Given the description of an element on the screen output the (x, y) to click on. 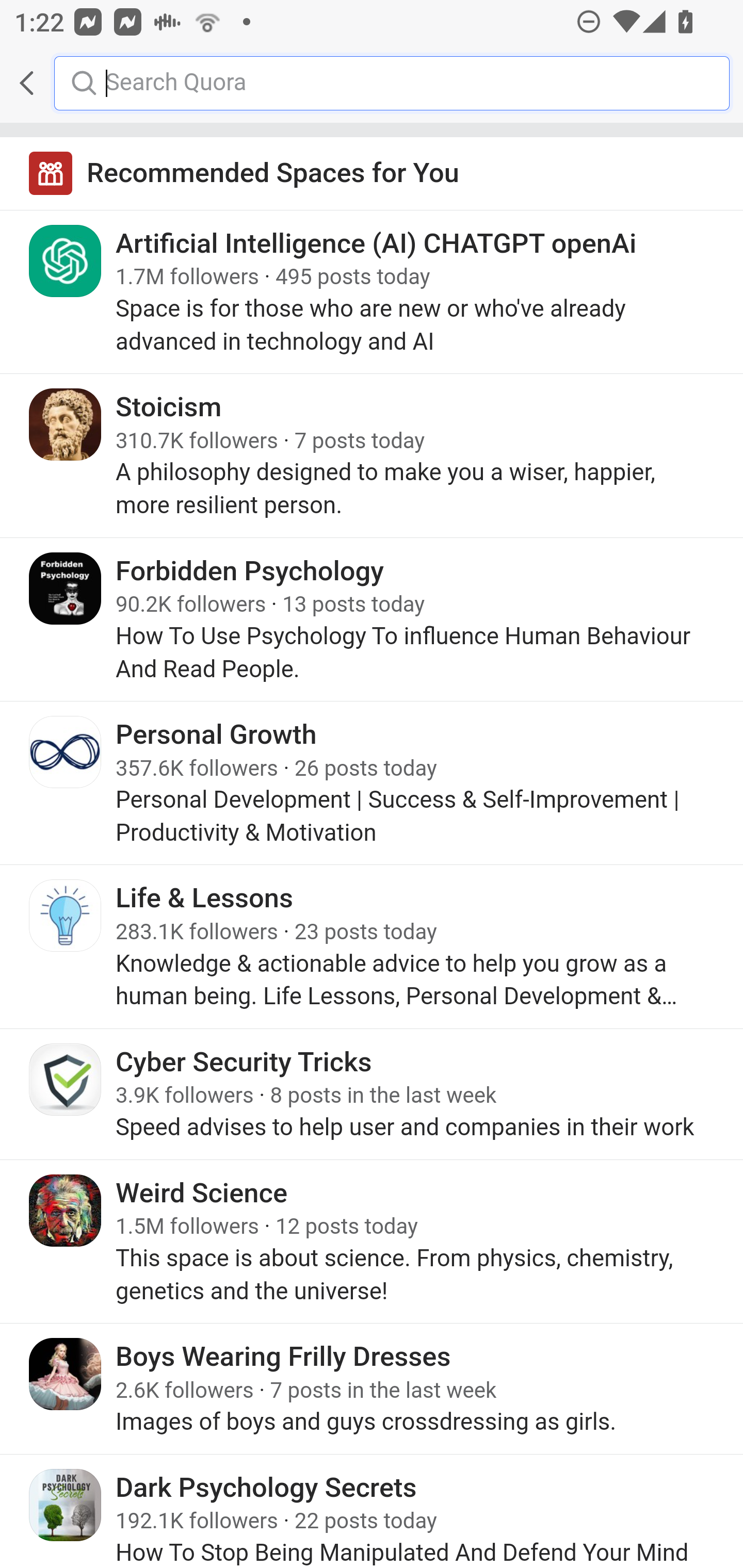
Me (64, 83)
Icon for Stoicism (65, 424)
Icon for Forbidden Psychology (65, 587)
Icon for Personal Growth (65, 751)
Icon for Life & Lessons (65, 916)
Icon for Cyber Security Tricks (65, 1078)
Icon for Weird Science (65, 1209)
Icon for Boys Wearing Frilly Dresses (65, 1374)
Icon for Dark Psychology Secrets (65, 1504)
